Given the description of an element on the screen output the (x, y) to click on. 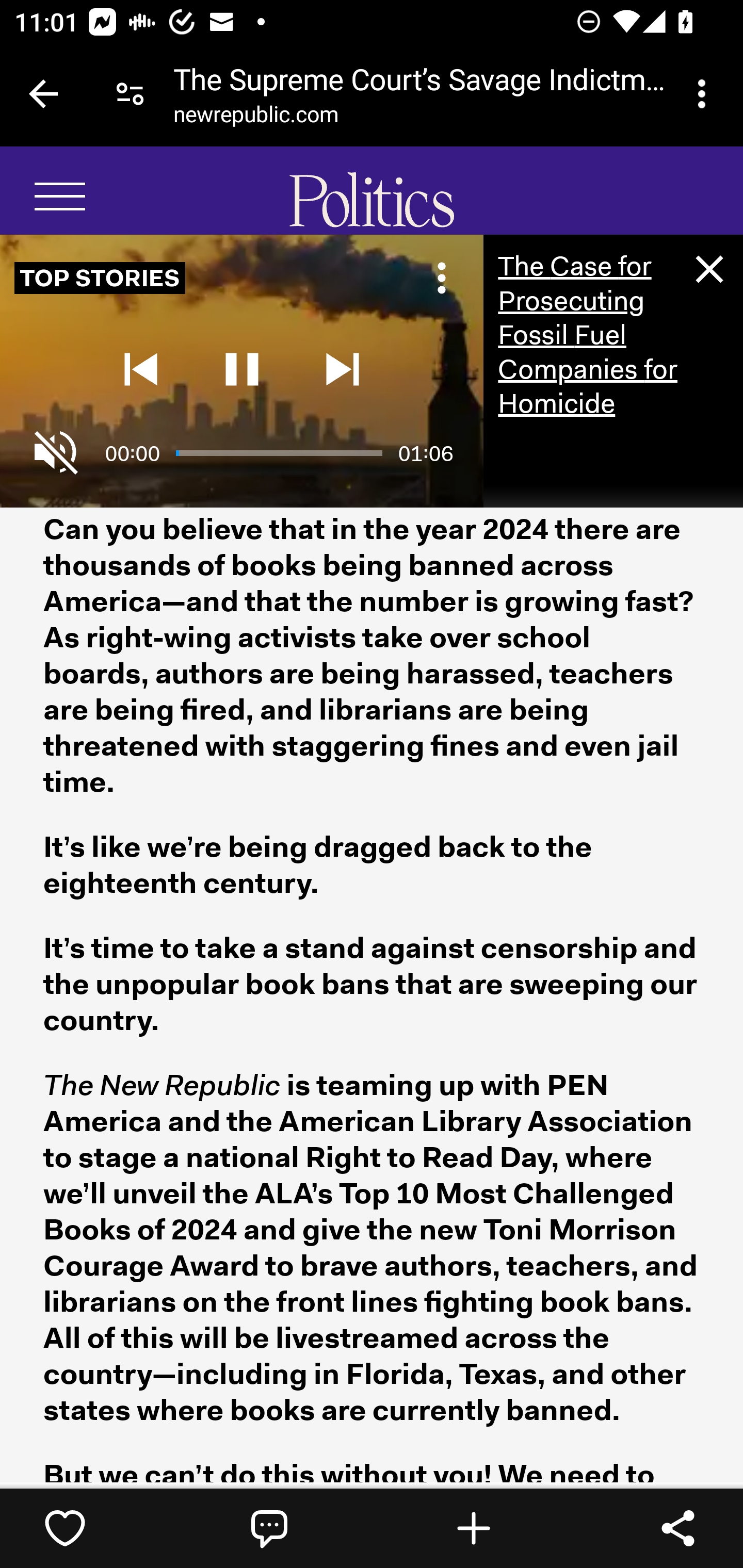
Close tab (43, 93)
Customize and control Google Chrome (705, 93)
Connection is secure (129, 93)
newrepublic.com (255, 117)
open additional navigation (61, 198)
politics (371, 213)
Close Player (708, 271)
More (441, 279)
Previous (Shift + P) (140, 369)
Pause (SPACE) (241, 369)
Next (Shift + N) (342, 369)
Unmute (m) (56, 453)
Like (64, 1528)
Write a comment… (269, 1528)
Flip into Magazine (473, 1528)
Share (677, 1528)
